Given the description of an element on the screen output the (x, y) to click on. 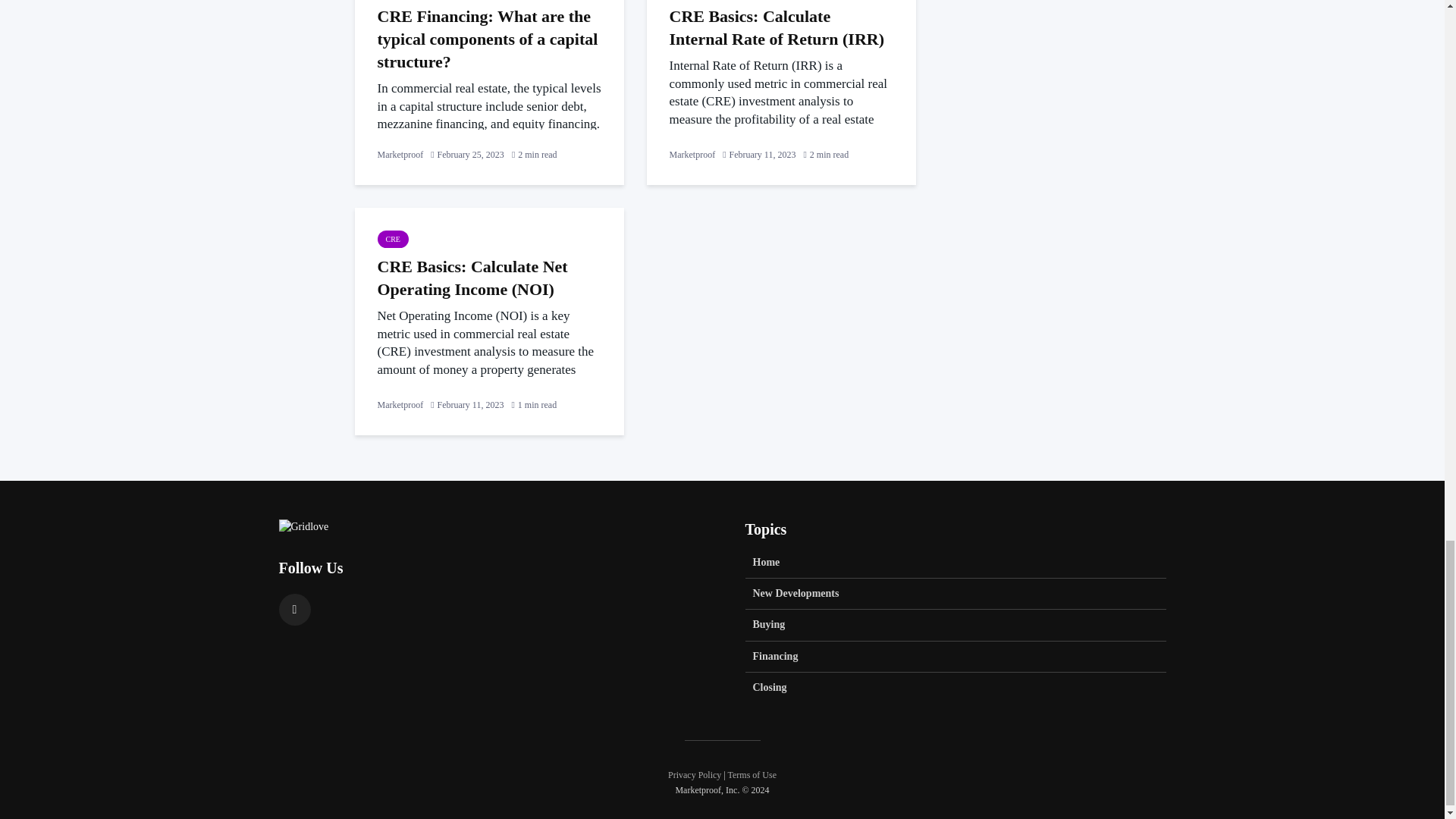
CRE (393, 239)
Marketproof (400, 154)
Marketproof (400, 404)
Marketproof (691, 154)
